Given the description of an element on the screen output the (x, y) to click on. 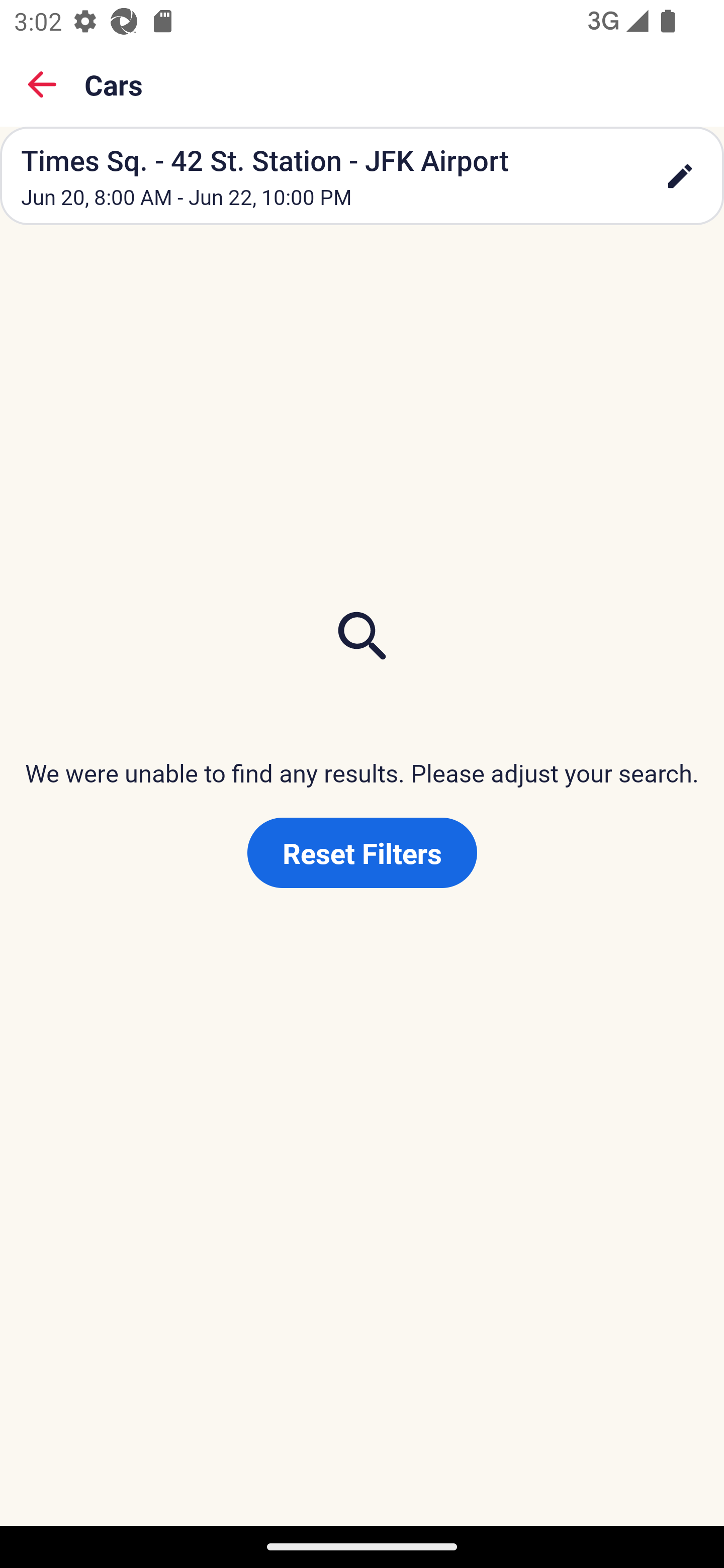
Back (42, 84)
edit (679, 175)
Reset Filters (362, 852)
